Given the description of an element on the screen output the (x, y) to click on. 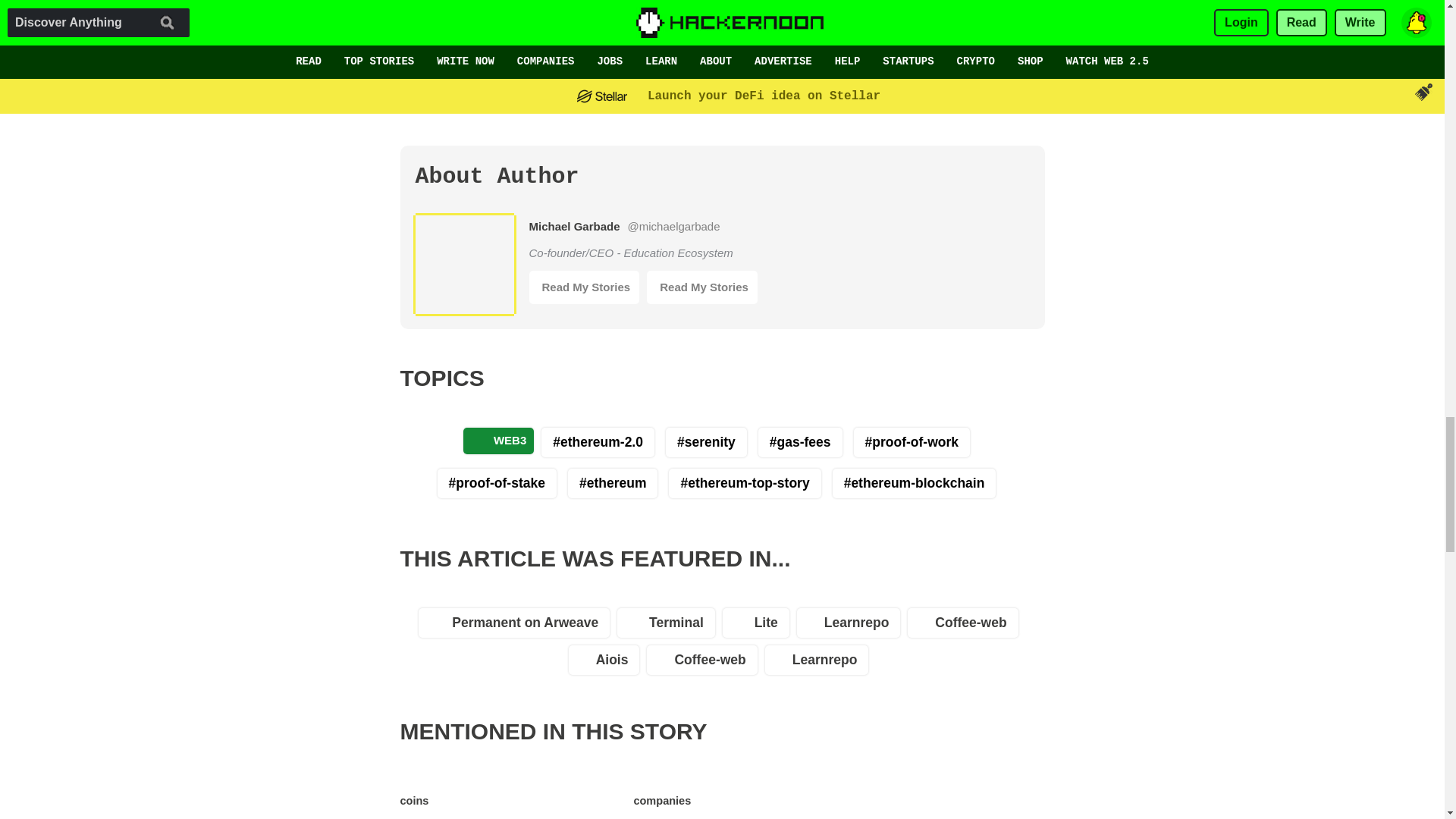
Chain (598, 796)
Litecoin (530, 796)
fees (724, 796)
Tether (462, 796)
